Given the description of an element on the screen output the (x, y) to click on. 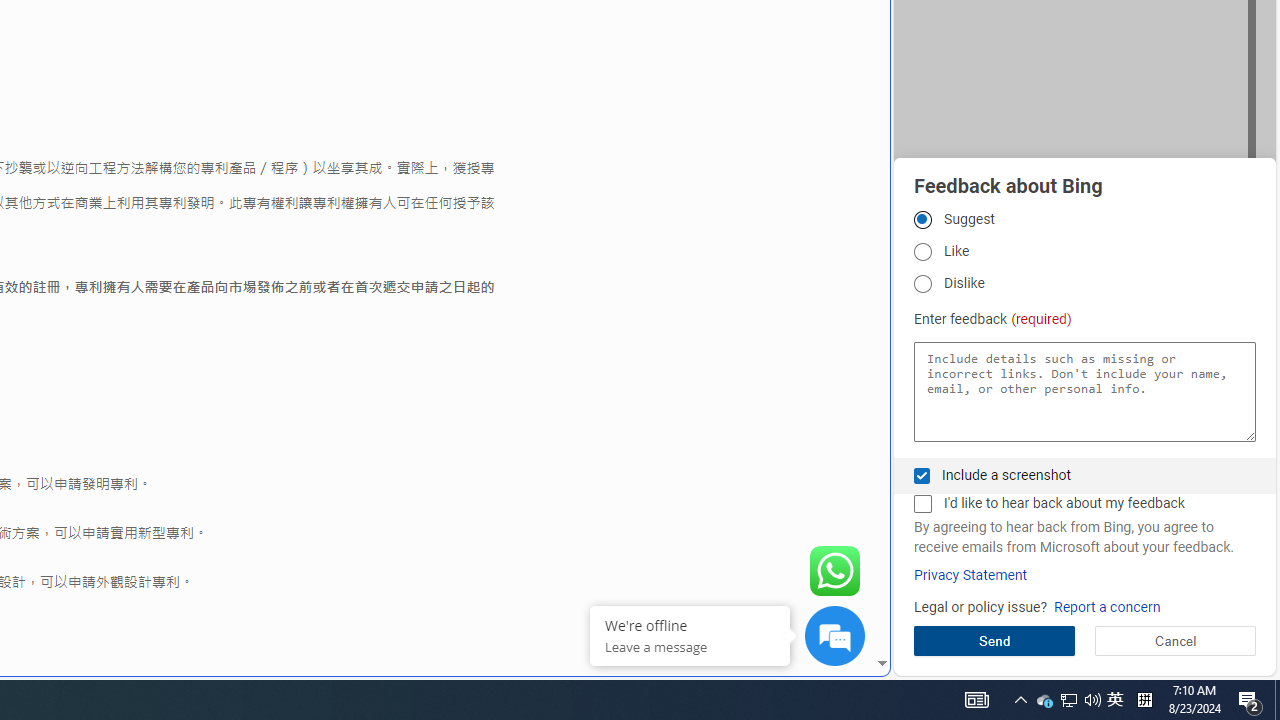
Like (922, 251)
Report a concern (1106, 607)
I'd like to hear back about my feedback (922, 503)
Send (994, 640)
Suggest (922, 219)
Privacy Statement (970, 575)
Include a screenshot (921, 475)
Cancel (1174, 640)
